Given the description of an element on the screen output the (x, y) to click on. 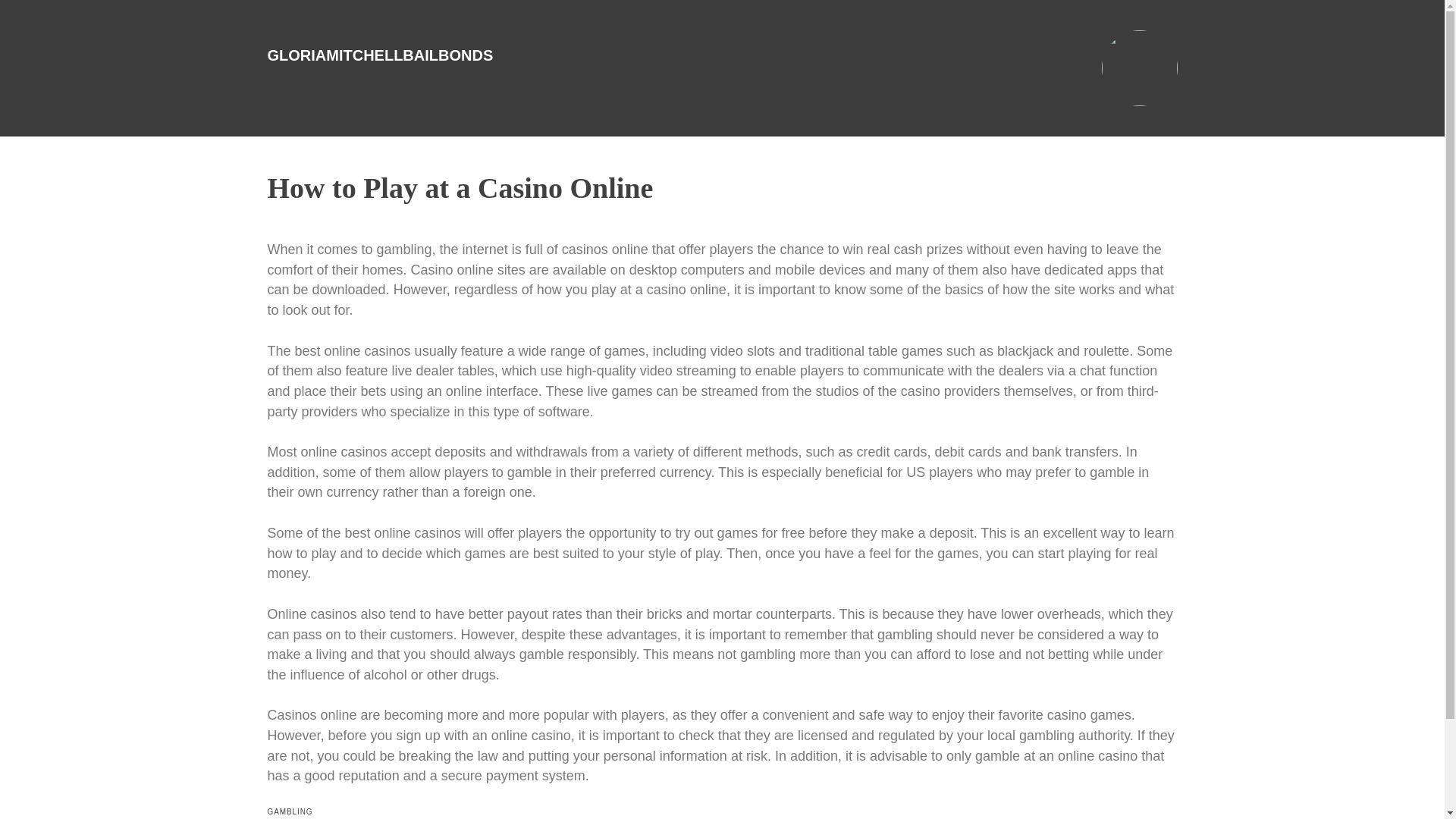
GLORIAMITCHELLBAILBONDS (379, 54)
GAMBLING (289, 811)
gloriamitchellbailbonds (379, 54)
